Given the description of an element on the screen output the (x, y) to click on. 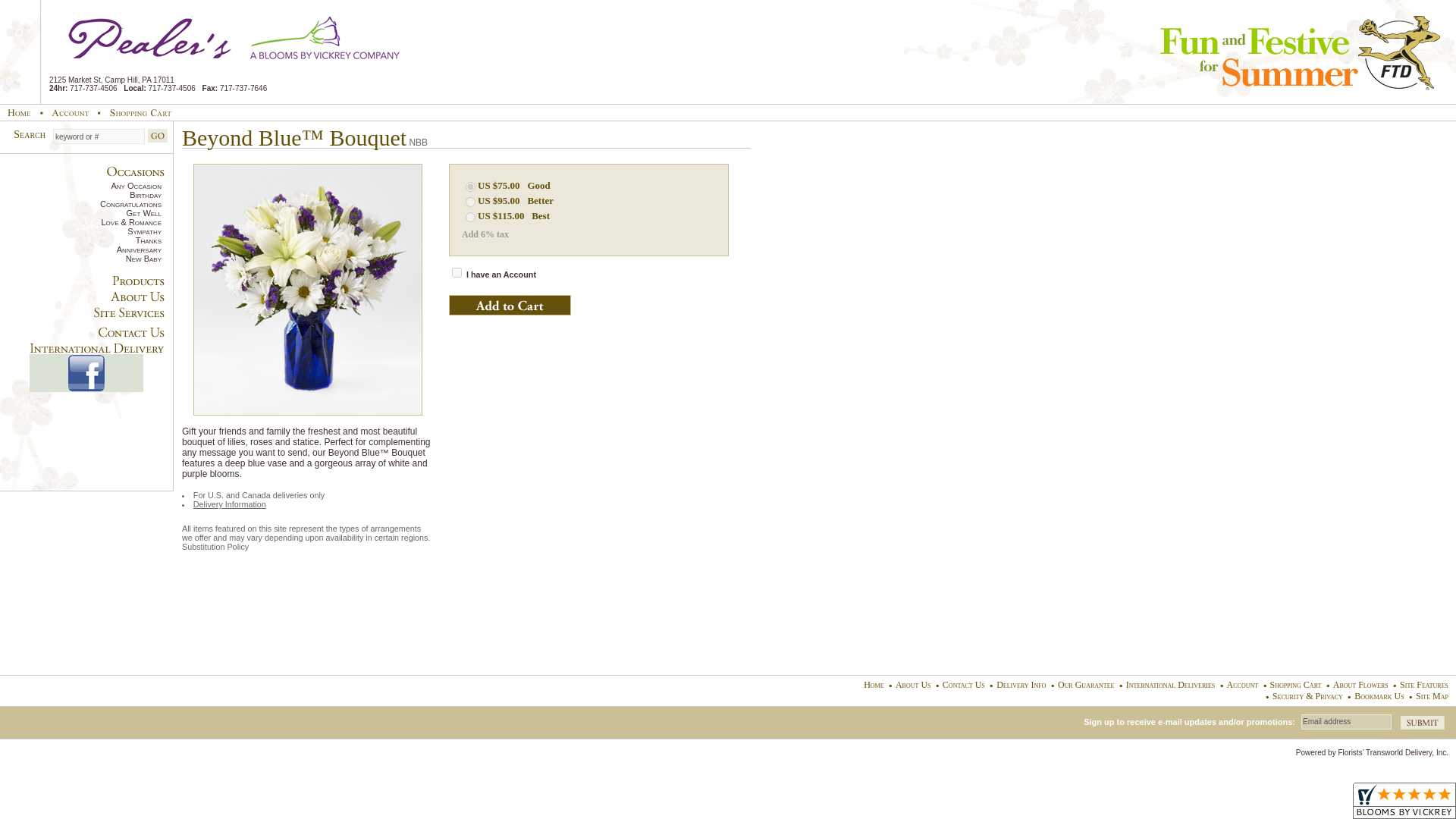
Email address (1346, 721)
New Baby (80, 257)
LocalFlorist - Camp Hill, PA 17011 (236, 38)
Get Well (80, 212)
Any Occasion (80, 185)
Birthday (80, 194)
Congratulations (80, 203)
Yes (456, 272)
Anniversary (80, 248)
Good (538, 184)
Sympathy (80, 230)
Thanks (80, 239)
